Given the description of an element on the screen output the (x, y) to click on. 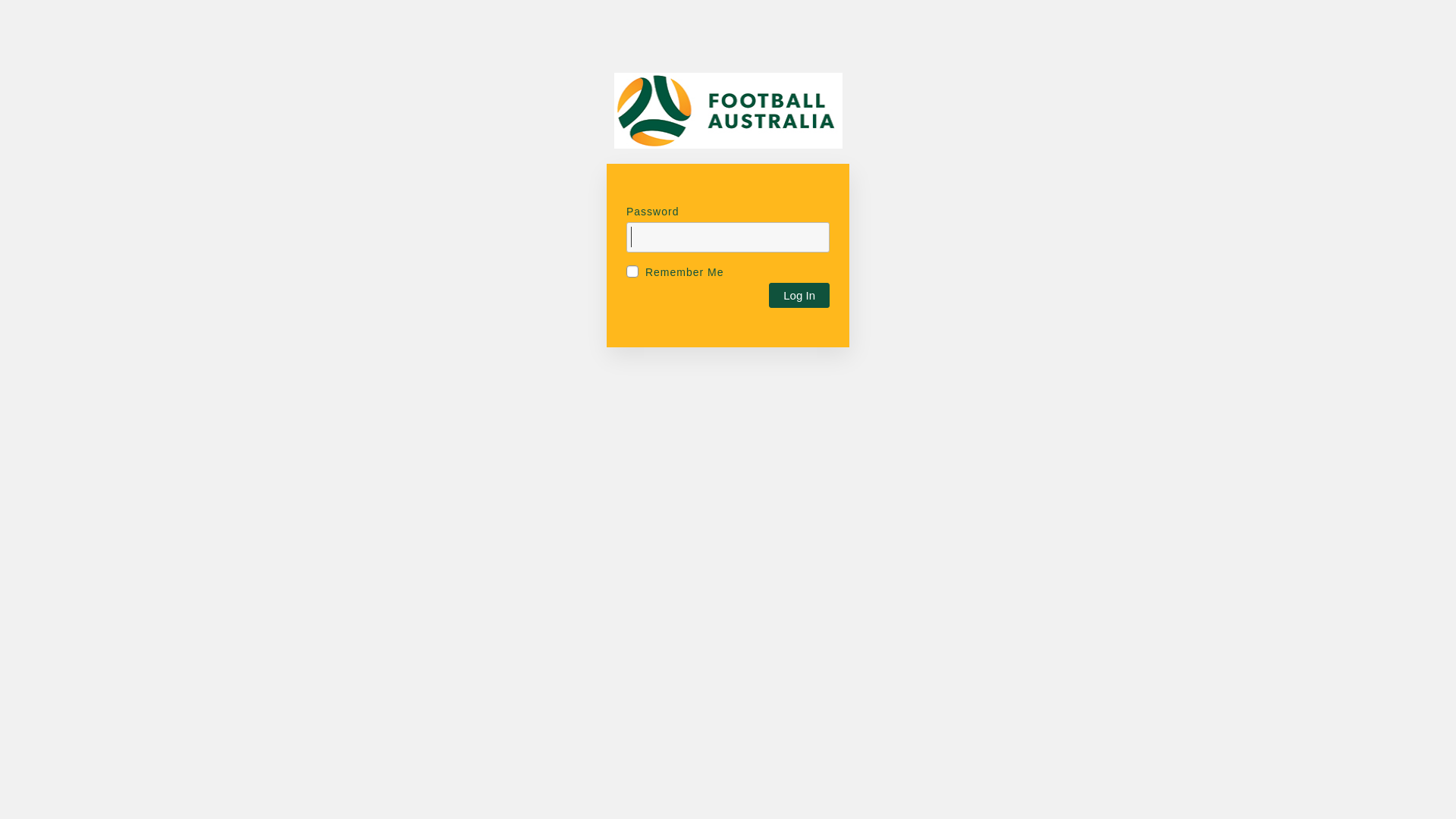
Football Australia Travel Element type: text (728, 117)
Log In Element type: text (798, 294)
